Given the description of an element on the screen output the (x, y) to click on. 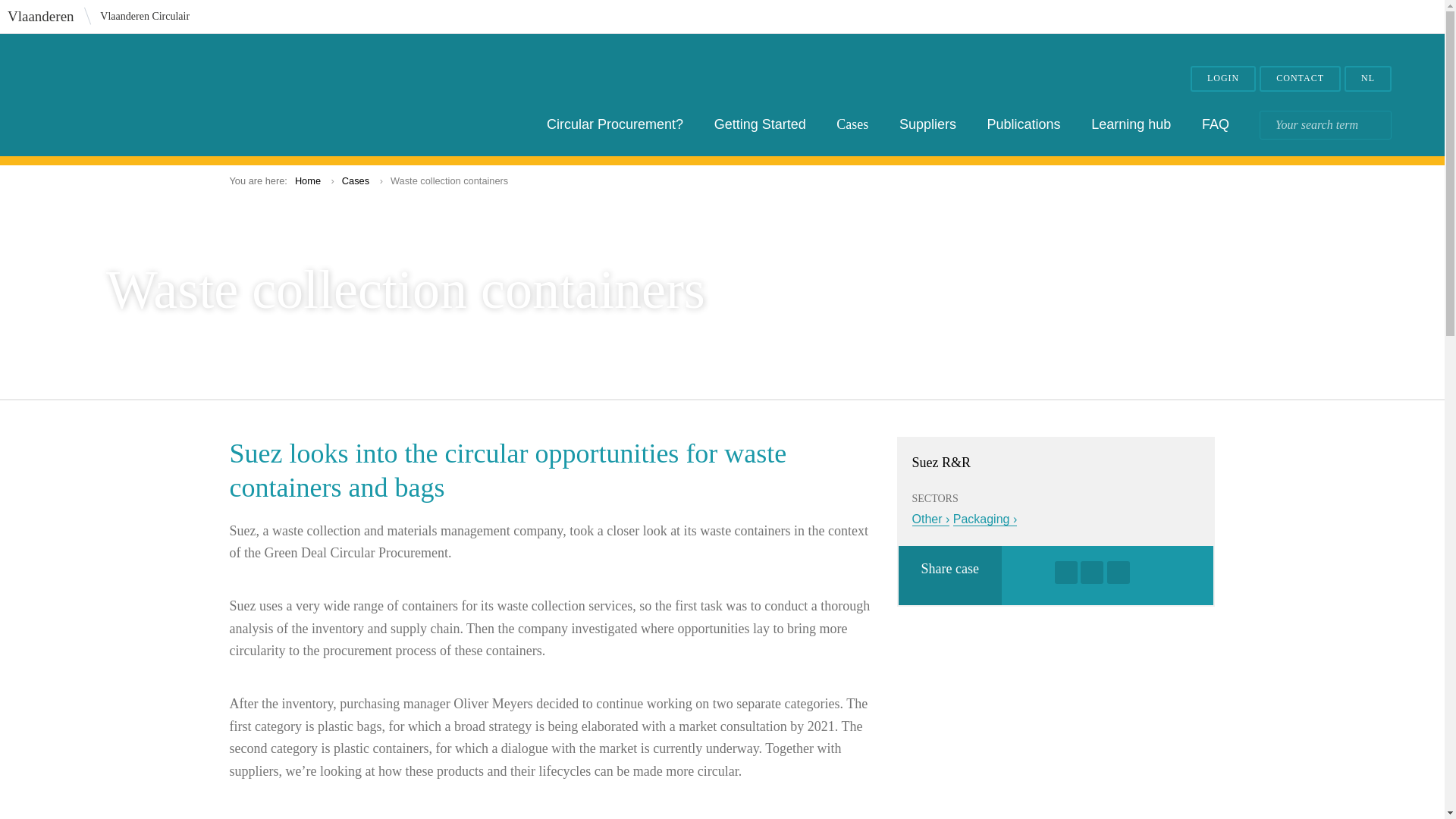
Cases (851, 124)
Publications (1024, 124)
LOGIN (1223, 78)
Aankopen Vlaanderen Circulair (161, 95)
Circular Procurement? (614, 124)
Contact (1299, 78)
Learning hub (1130, 124)
CONTACT (1299, 78)
Cases (355, 180)
Getting Started (760, 124)
